Given the description of an element on the screen output the (x, y) to click on. 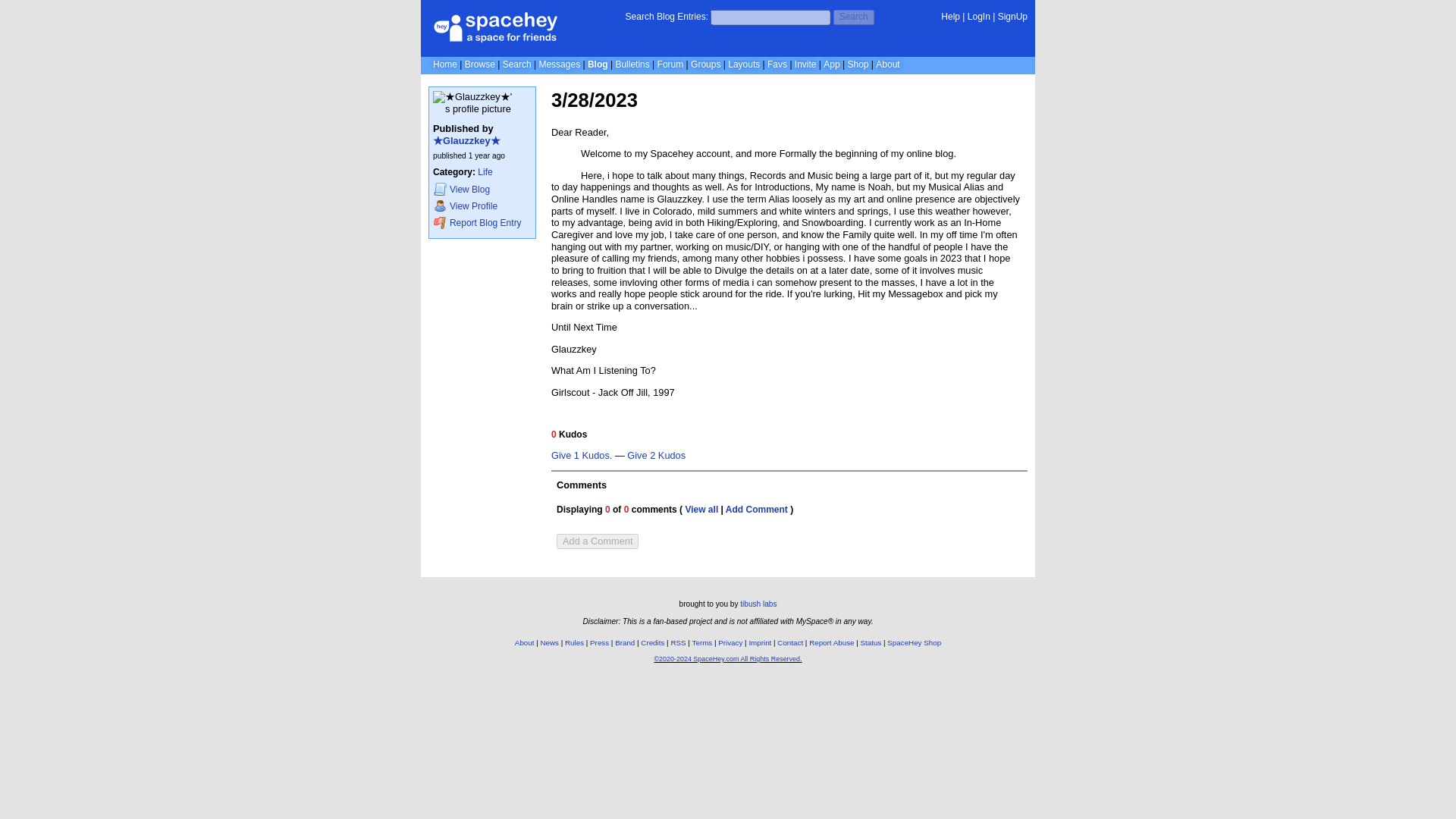
Layouts (744, 63)
Life (484, 172)
Search (853, 17)
Add a Comment (597, 541)
Terms (703, 642)
Blog (598, 63)
About (524, 642)
Rules (573, 642)
Bulletins (631, 63)
Favs (777, 63)
App (832, 63)
Shop (857, 63)
Add a Comment (597, 541)
SignUp (1012, 16)
Home (444, 63)
